Given the description of an element on the screen output the (x, y) to click on. 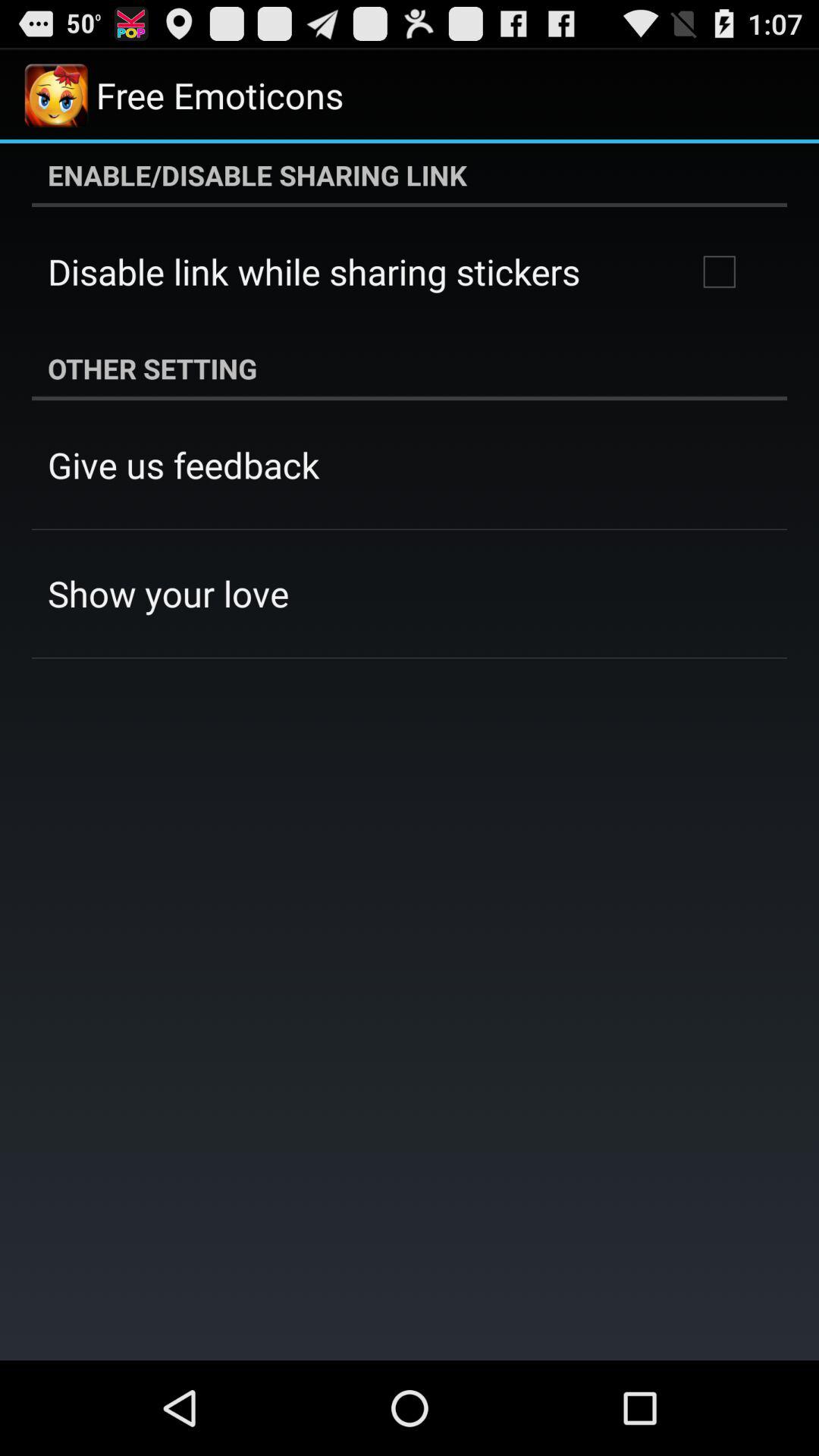
jump until other setting icon (409, 368)
